Given the description of an element on the screen output the (x, y) to click on. 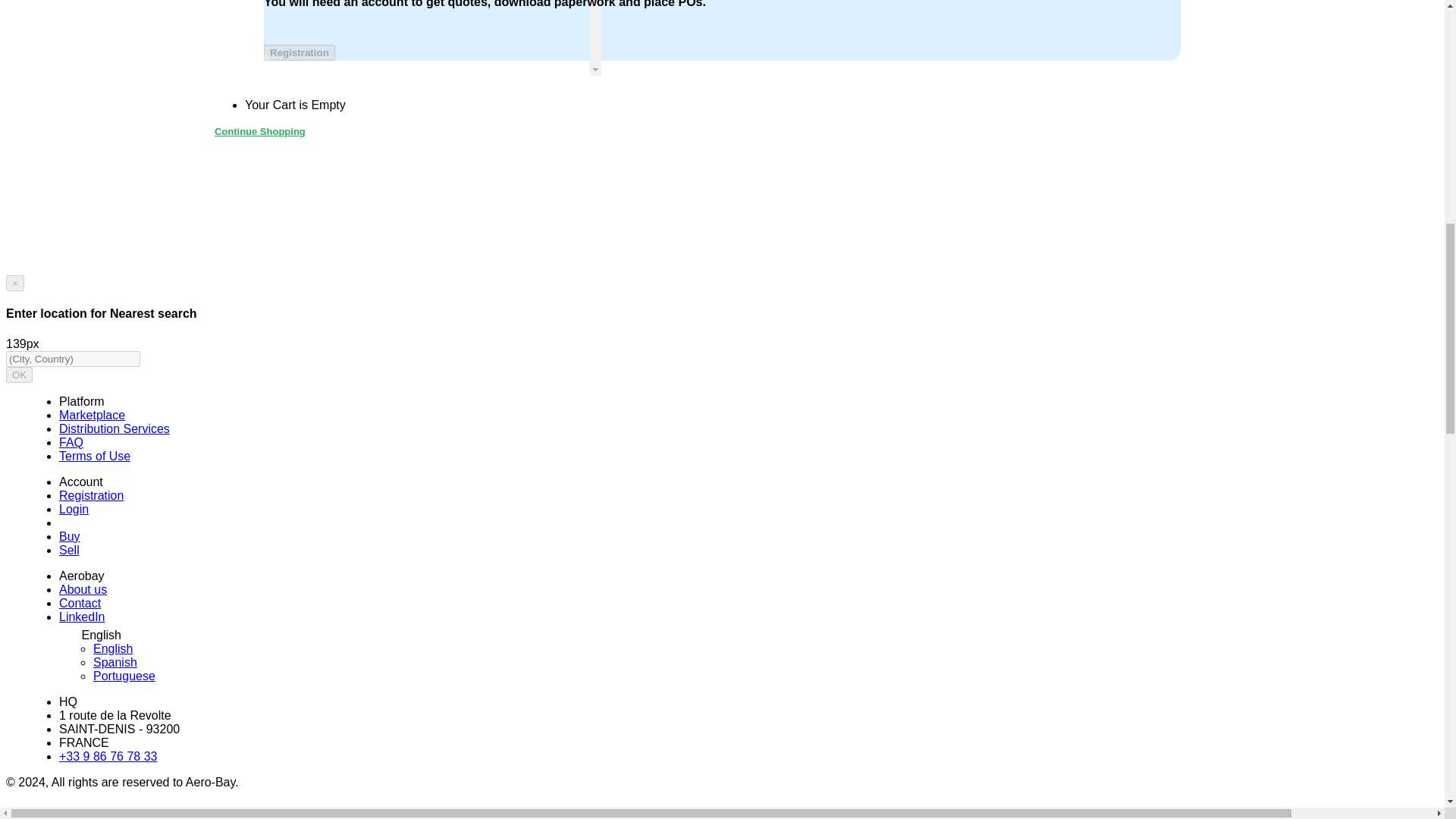
Continue Shopping (259, 131)
